Given the description of an element on the screen output the (x, y) to click on. 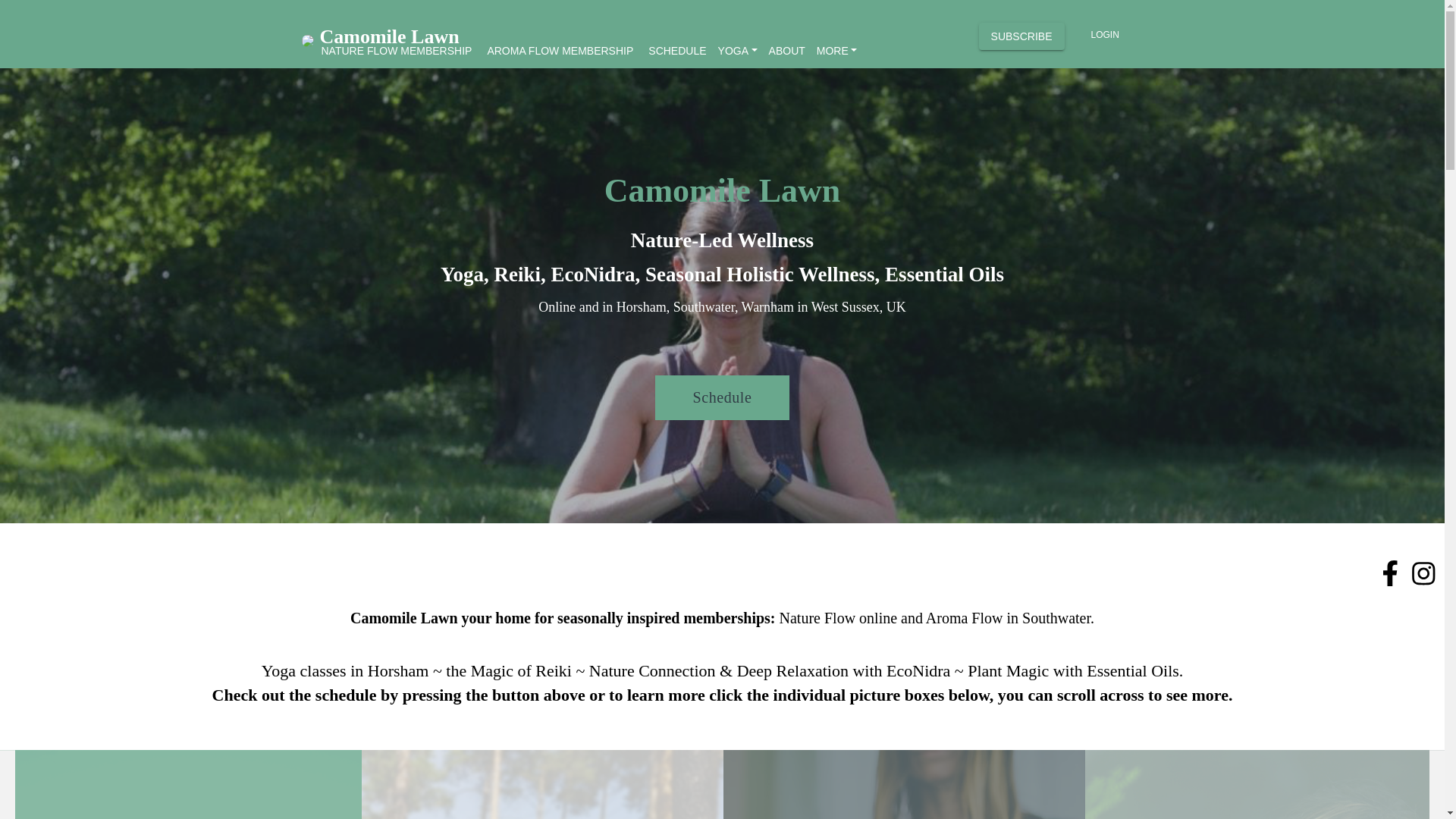
SCHEDULE (676, 49)
MORE (836, 54)
YOGA (737, 54)
Schedule (722, 397)
SUBSCRIBE (1021, 36)
AROMA FLOW MEMBERSHIP (559, 49)
NATURE FLOW MEMBERSHIP (397, 49)
ABOUT (786, 49)
